Given the description of an element on the screen output the (x, y) to click on. 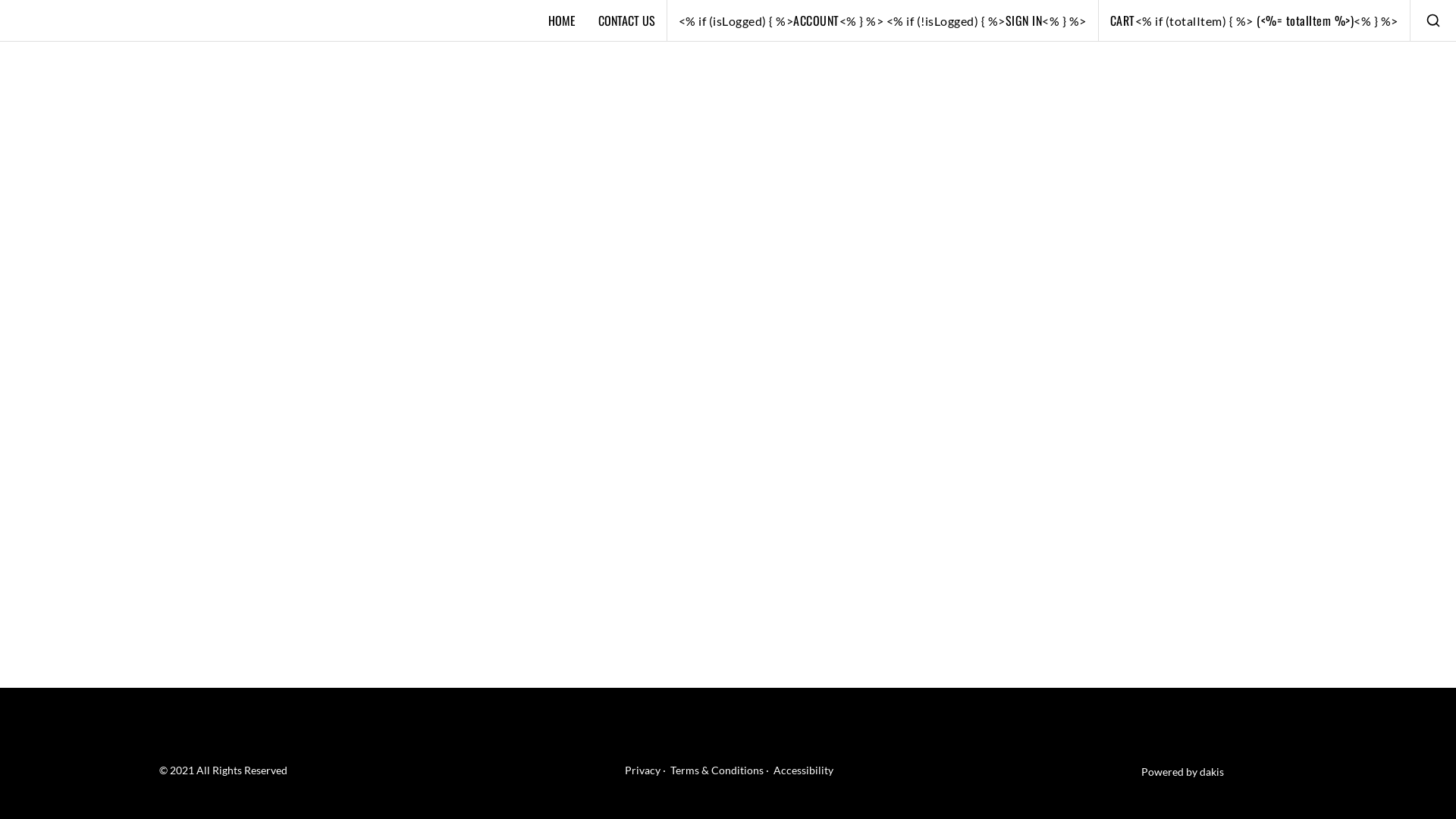
HOME Element type: text (561, 20)
Terms & Conditions Element type: text (716, 769)
CONTACT US Element type: text (626, 20)
Powered by dakis Element type: text (1182, 771)
Privacy Element type: text (642, 769)
Accessibility Element type: text (803, 769)
